Given the description of an element on the screen output the (x, y) to click on. 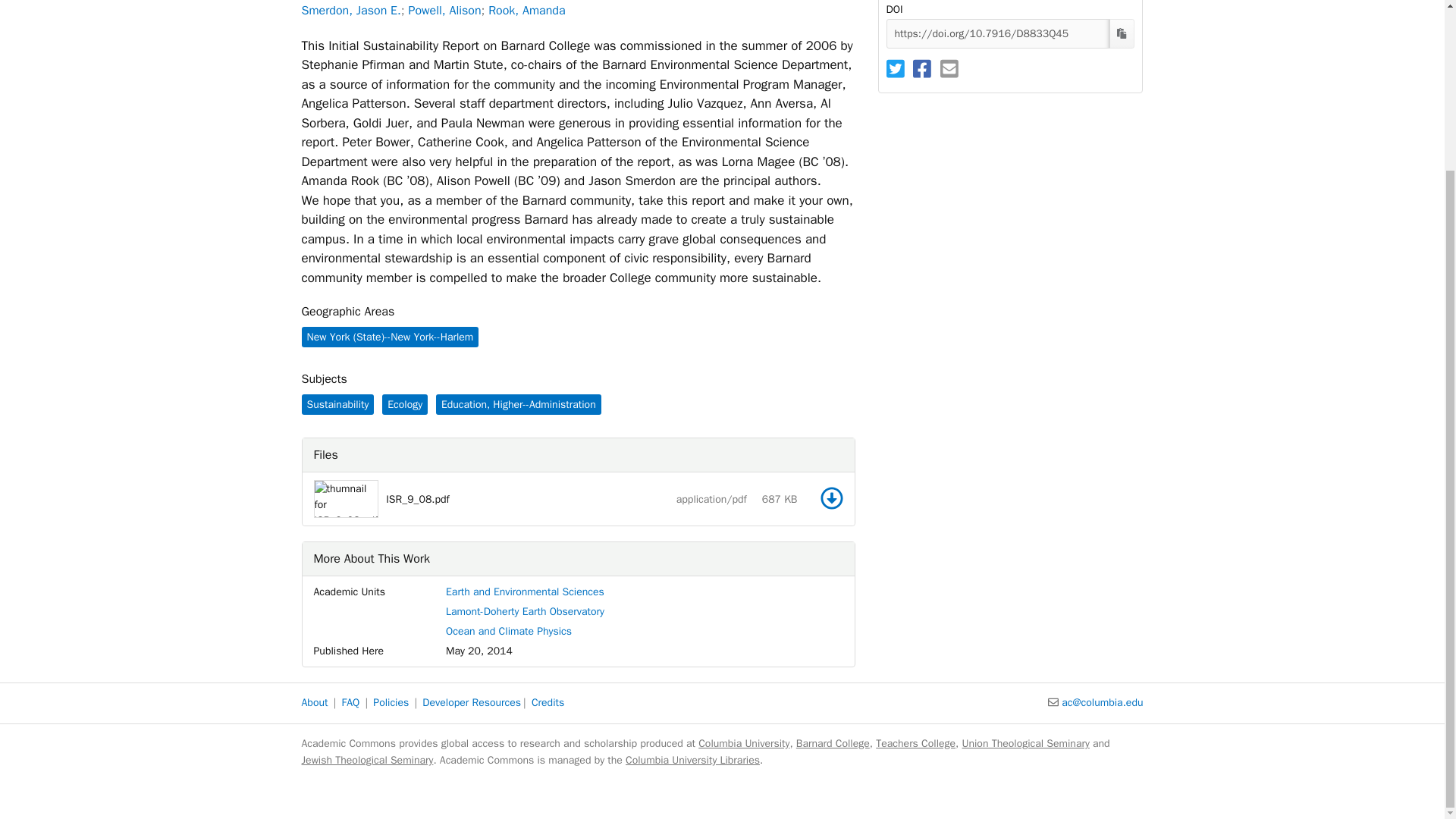
Ocean and Climate Physics (508, 631)
Download file (832, 497)
Sustainability (337, 403)
Jewish Theological Seminary (367, 759)
Smerdon, Jason E. (351, 10)
Teachers College (915, 743)
Lamont-Doherty Earth Observatory (524, 611)
Union Theological Seminary (1024, 743)
About (315, 702)
Earth and Environmental Sciences (524, 591)
